Given the description of an element on the screen output the (x, y) to click on. 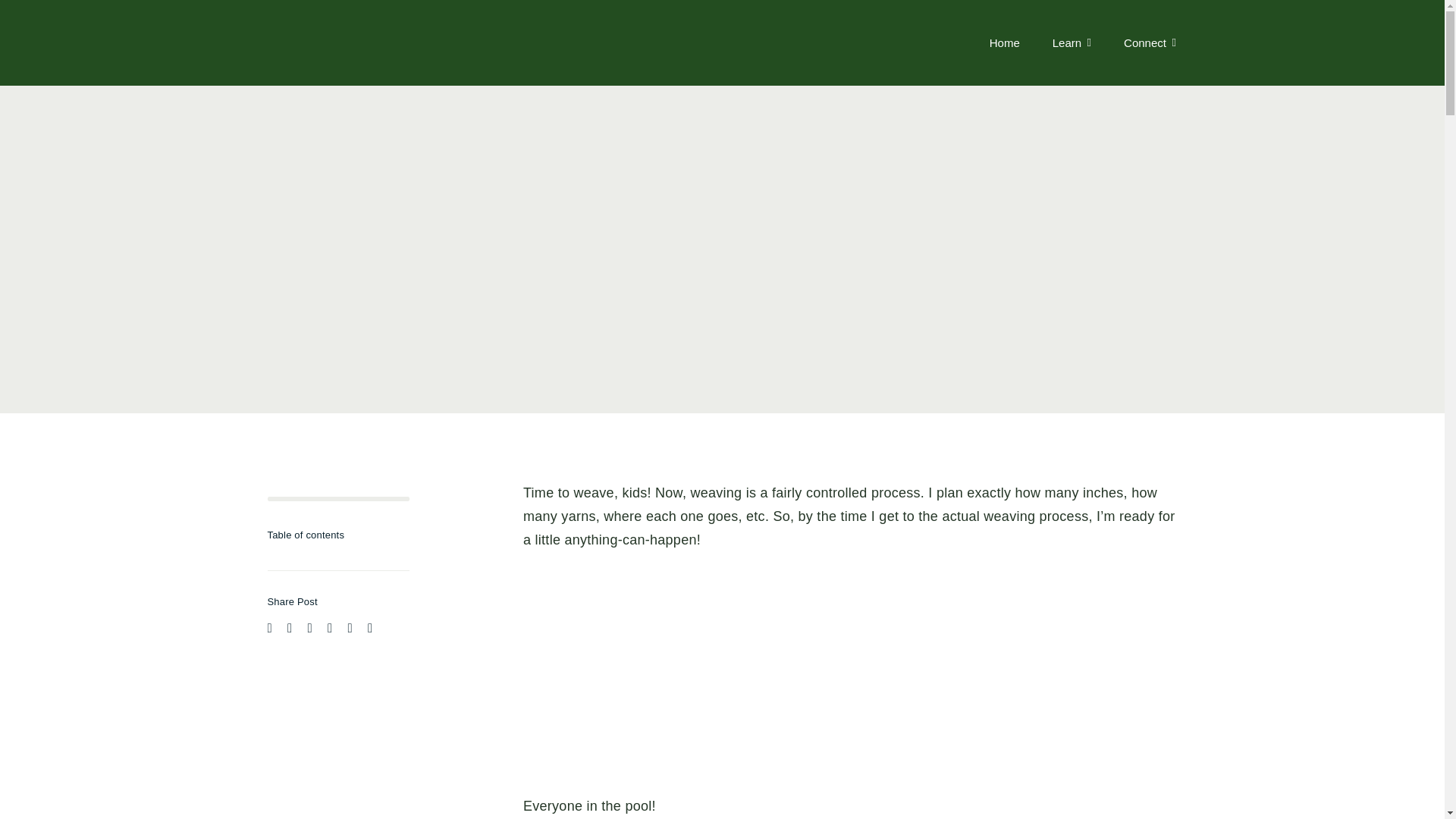
Learn (1071, 42)
Home (1005, 42)
Connect (1150, 42)
0 (337, 498)
